Given the description of an element on the screen output the (x, y) to click on. 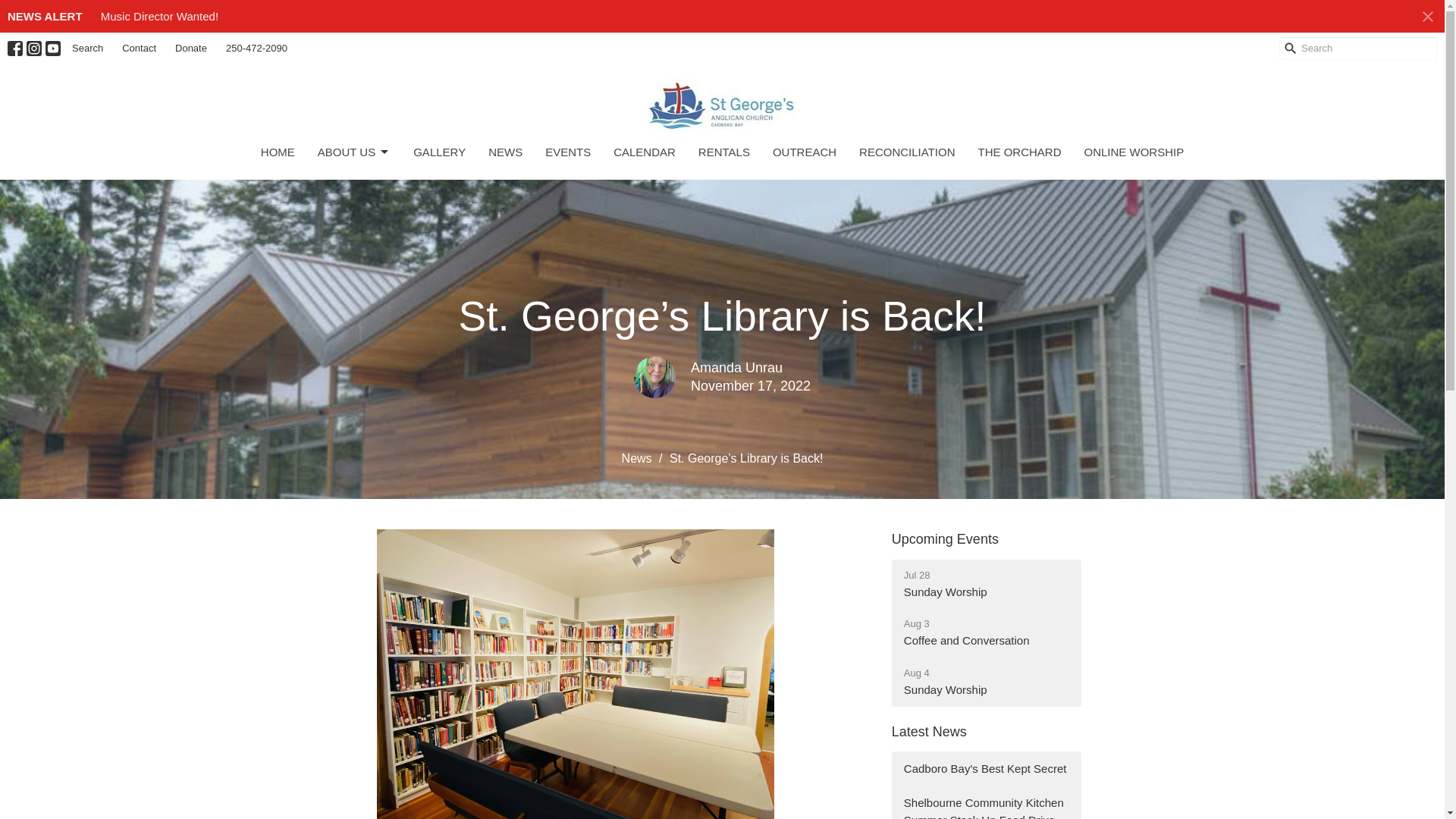
RECONCILIATION (907, 151)
Contact (139, 47)
EVENTS (567, 151)
RENTALS (723, 151)
Shelbourne Community Kitchen Summer Stock Up Food Drive (986, 802)
OUTREACH (804, 151)
ONLINE WORSHIP (1134, 151)
THE ORCHARD (1019, 151)
Donate (190, 47)
GALLERY (439, 151)
ABOUT US (353, 151)
Music Director Wanted! (159, 15)
NEWS (986, 632)
